Given the description of an element on the screen output the (x, y) to click on. 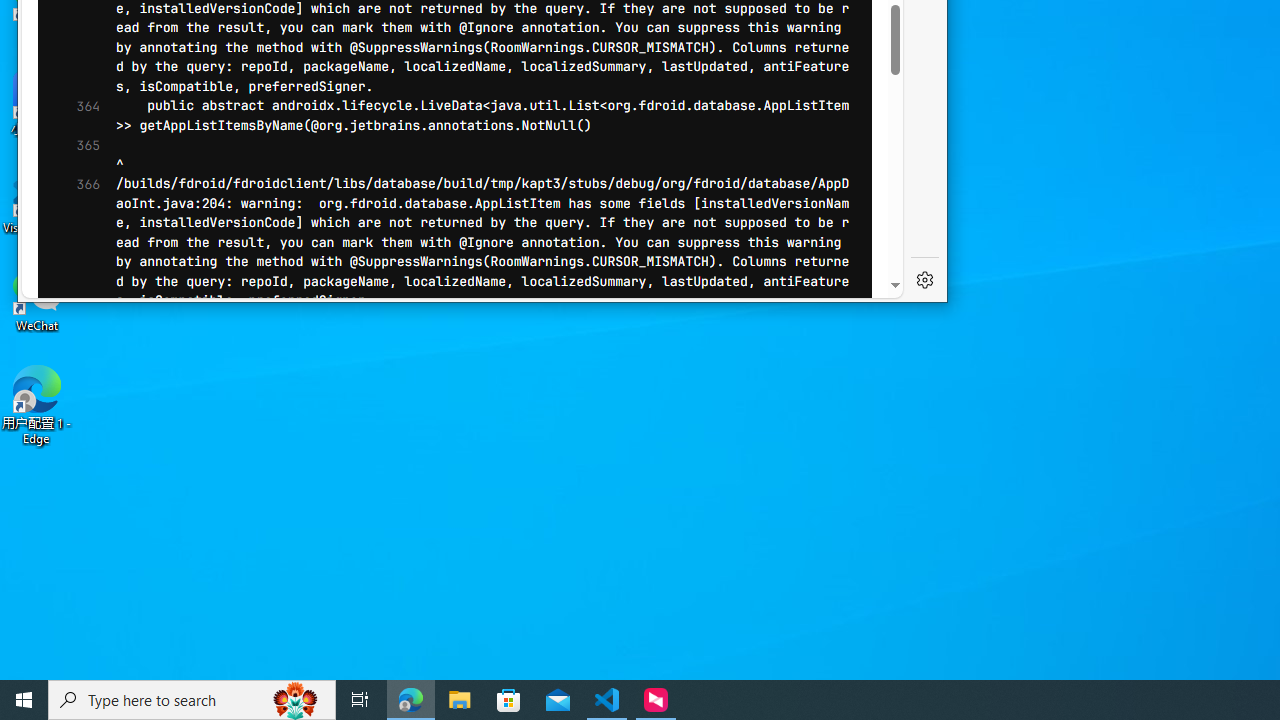
430 (73, 120)
438 (73, 275)
429 (73, 100)
427 (73, 61)
448 (73, 471)
449 (73, 490)
452 (73, 550)
442 (73, 354)
433 (73, 177)
Search highlights icon opens search home window (295, 699)
Microsoft Store (509, 699)
440 (73, 314)
425 (73, 22)
